Given the description of an element on the screen output the (x, y) to click on. 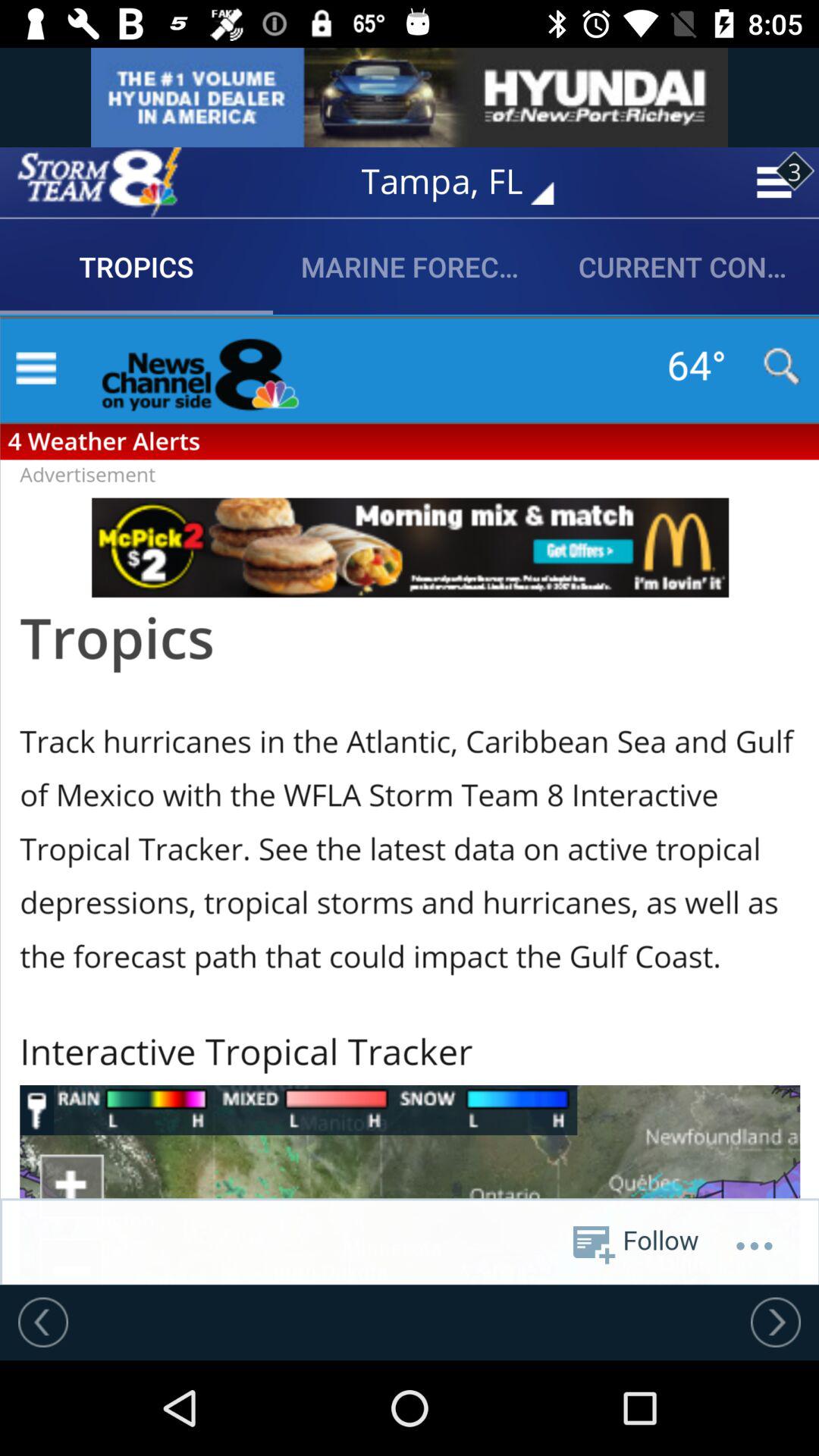
click to move forward (775, 1322)
